Given the description of an element on the screen output the (x, y) to click on. 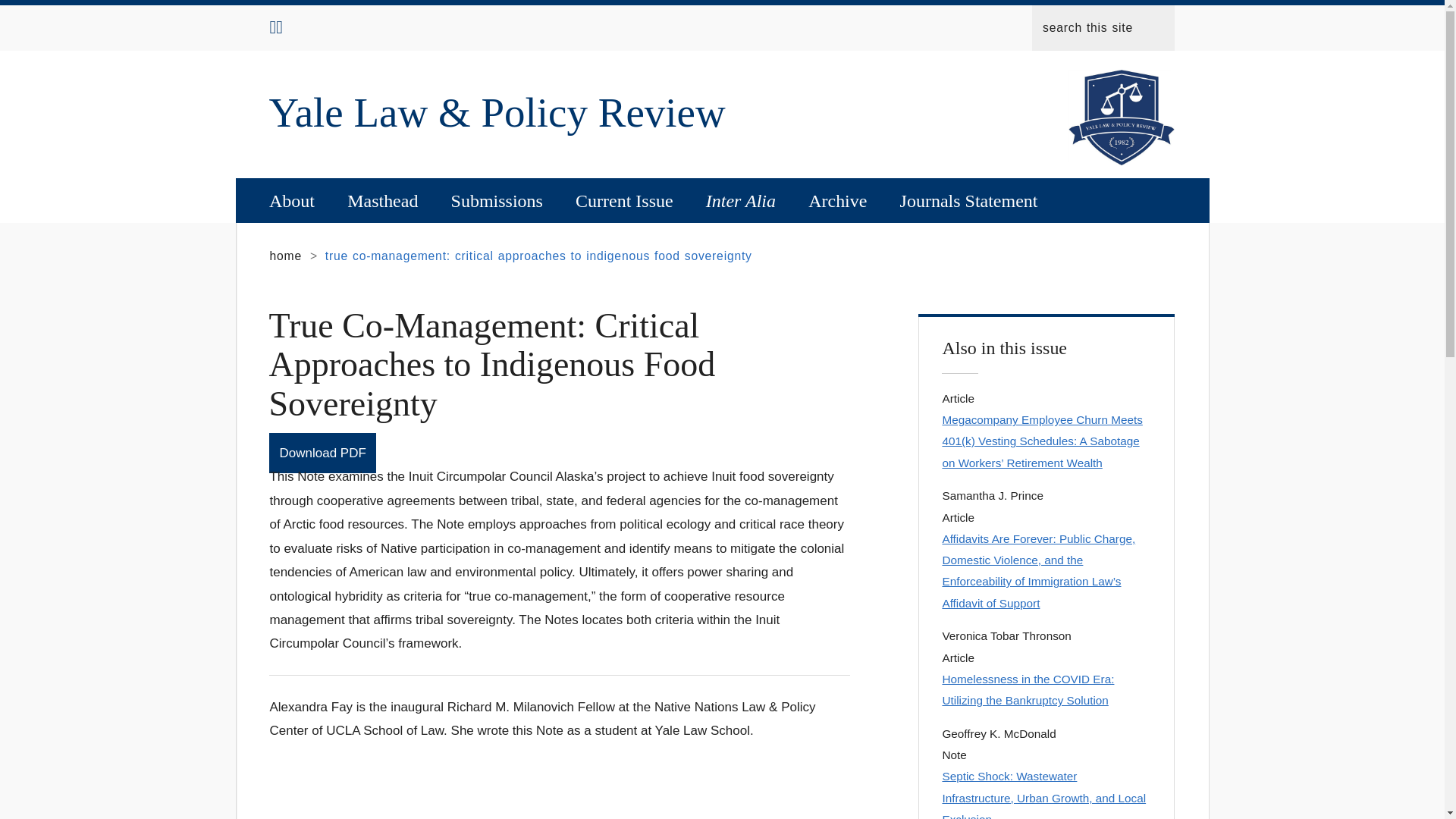
Enter the terms you wish to search for. (1101, 27)
Masthead (382, 200)
Home (501, 112)
Inter Alia (740, 200)
home (285, 255)
Skip to main content (586, 4)
Download PDF (322, 453)
Current Issue (623, 200)
About (290, 200)
Archive (837, 200)
Journals Statement (968, 200)
Submissions (496, 200)
